Given the description of an element on the screen output the (x, y) to click on. 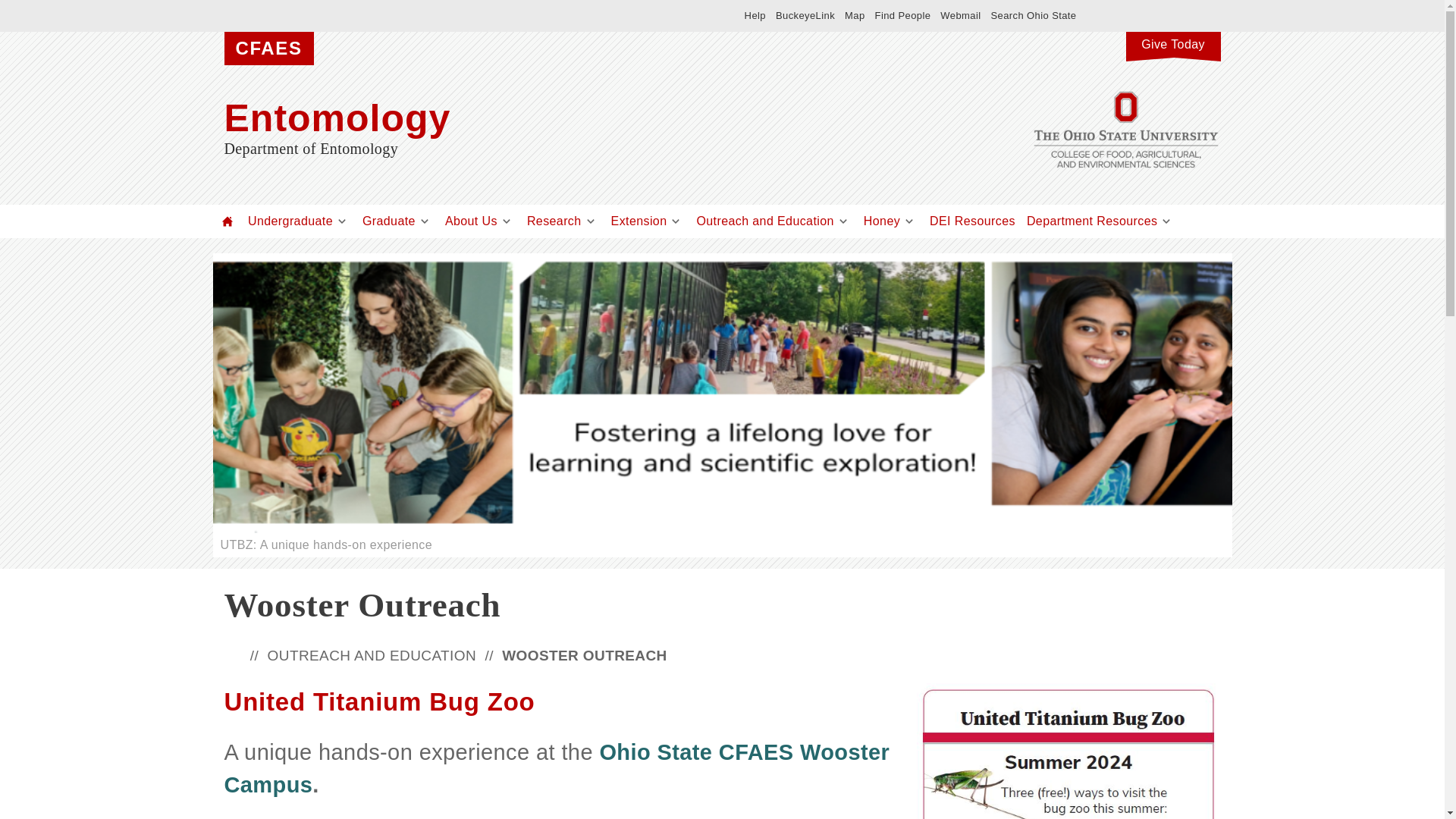
Skip to main content (686, 1)
Map (854, 15)
Graduate (388, 221)
CFAES (269, 48)
BuckeyeLink (805, 15)
The Ohio State University (399, 15)
Search Ohio State (1032, 15)
Home (226, 221)
Entomology (572, 118)
Find People (903, 15)
